Given the description of an element on the screen output the (x, y) to click on. 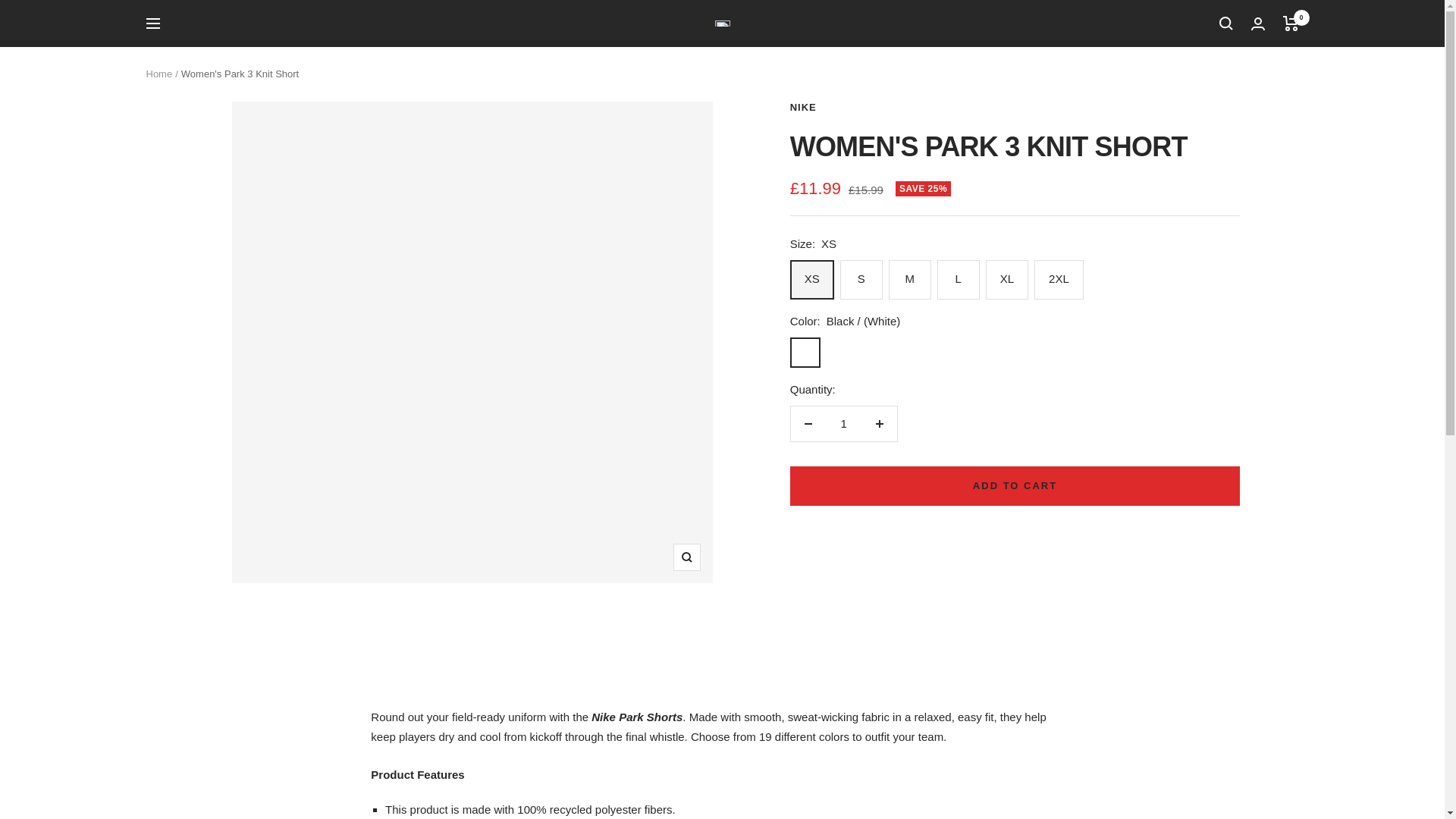
Navigation (151, 23)
1 (843, 423)
0 (1290, 23)
